Given the description of an element on the screen output the (x, y) to click on. 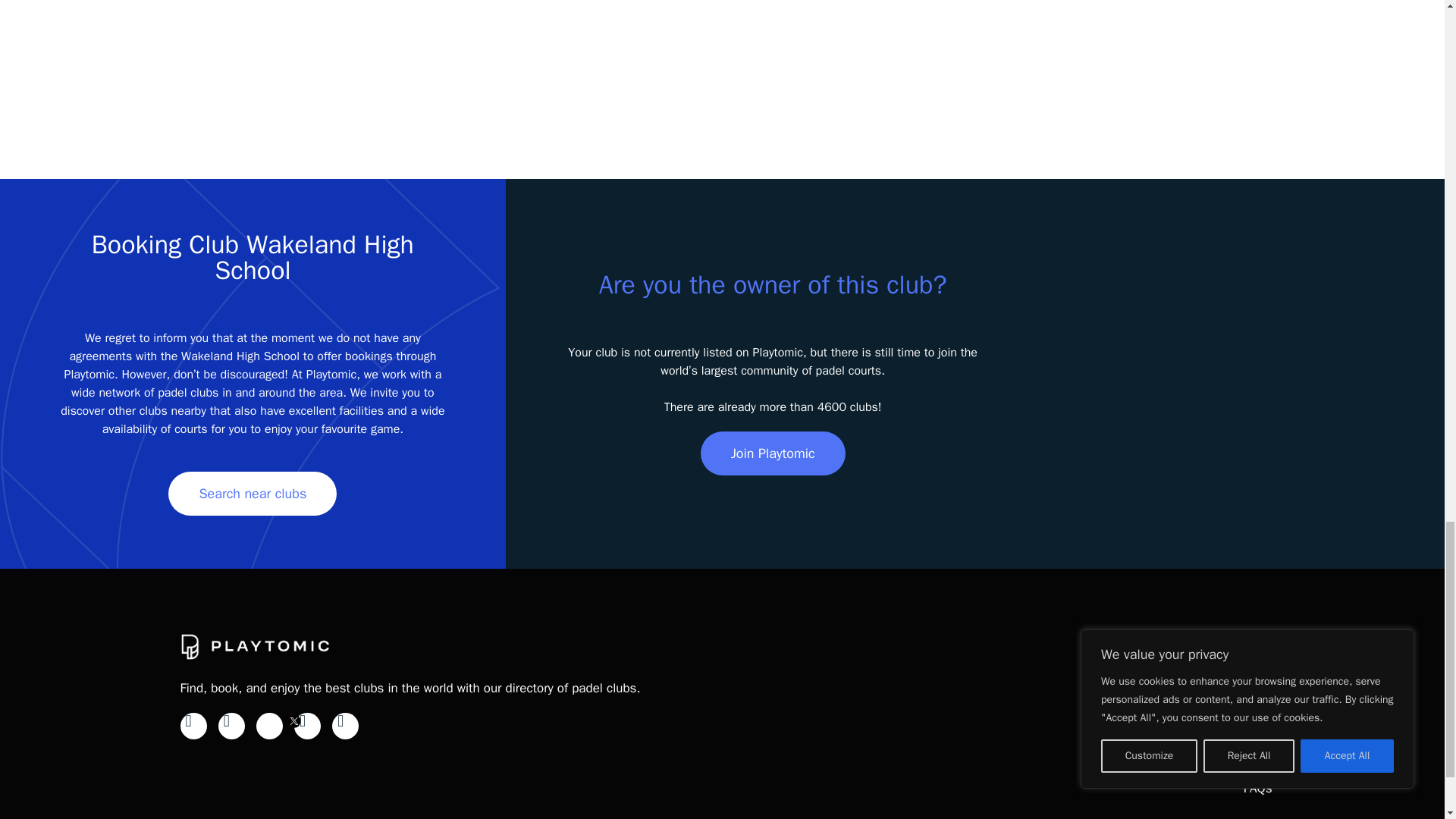
News (1256, 709)
Join Playtomic (772, 453)
Search near clubs (252, 493)
